Given the description of an element on the screen output the (x, y) to click on. 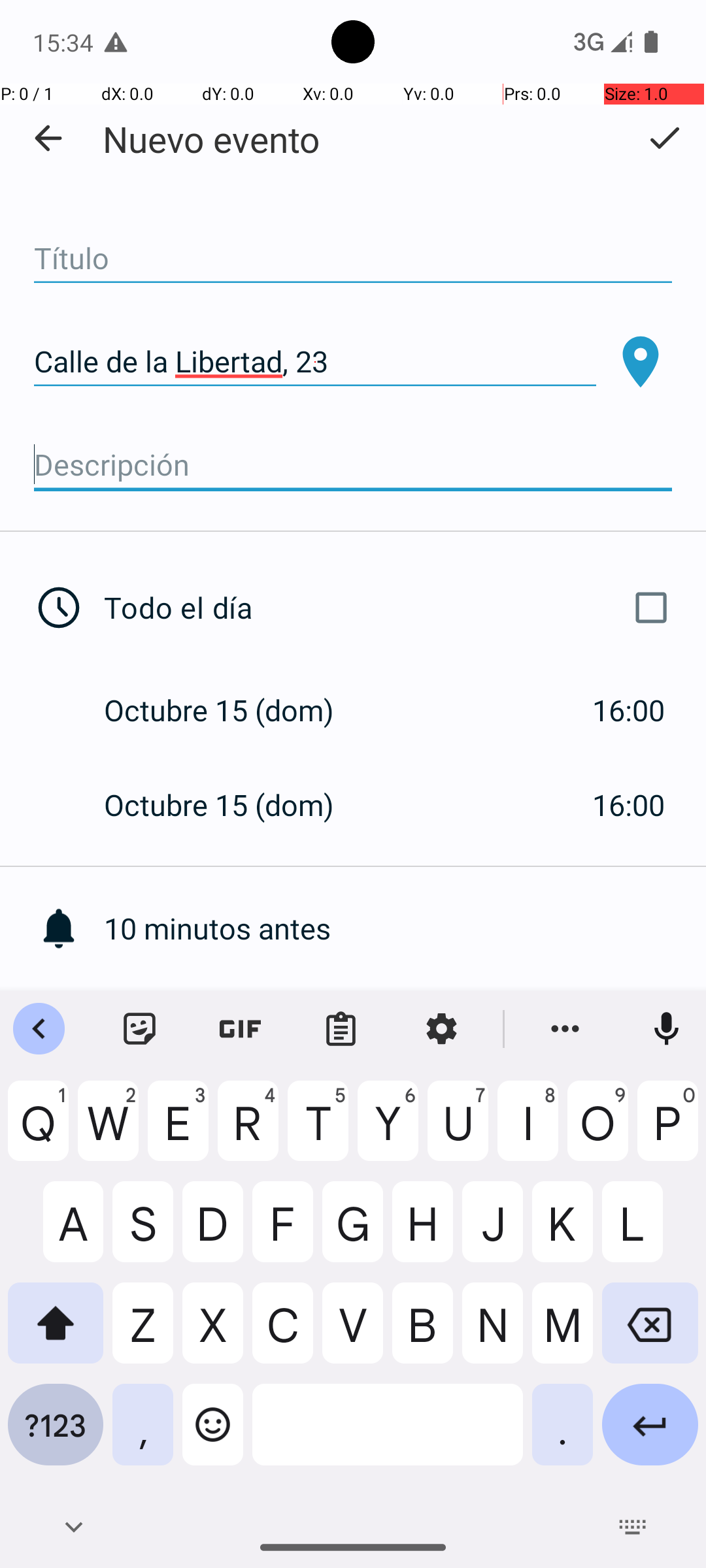
Calle de la Libertad, 23 Element type: android.widget.EditText (314, 361)
Descripción Element type: android.widget.EditText (352, 465)
